Given the description of an element on the screen output the (x, y) to click on. 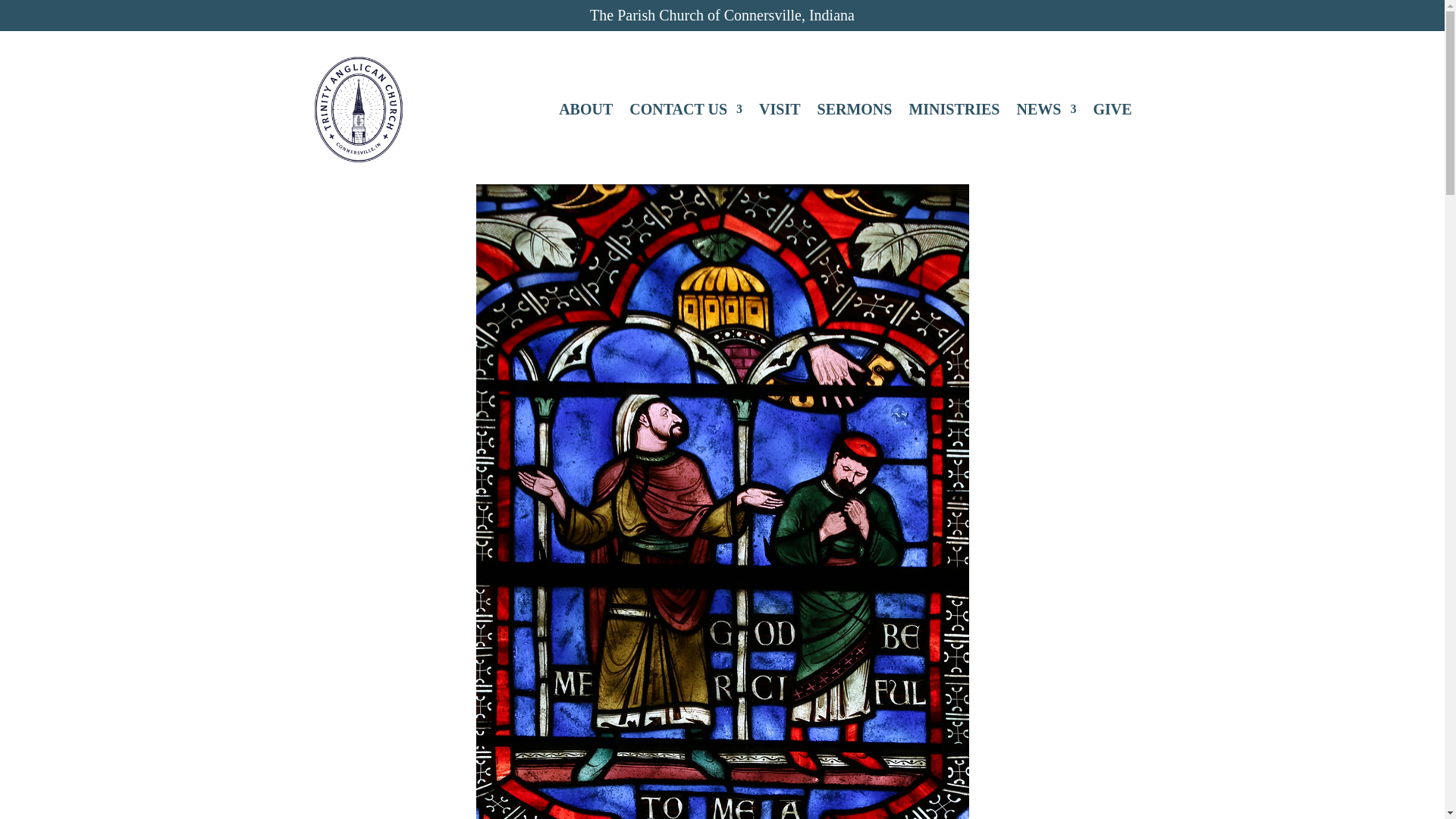
CONTACT US (685, 109)
